Given the description of an element on the screen output the (x, y) to click on. 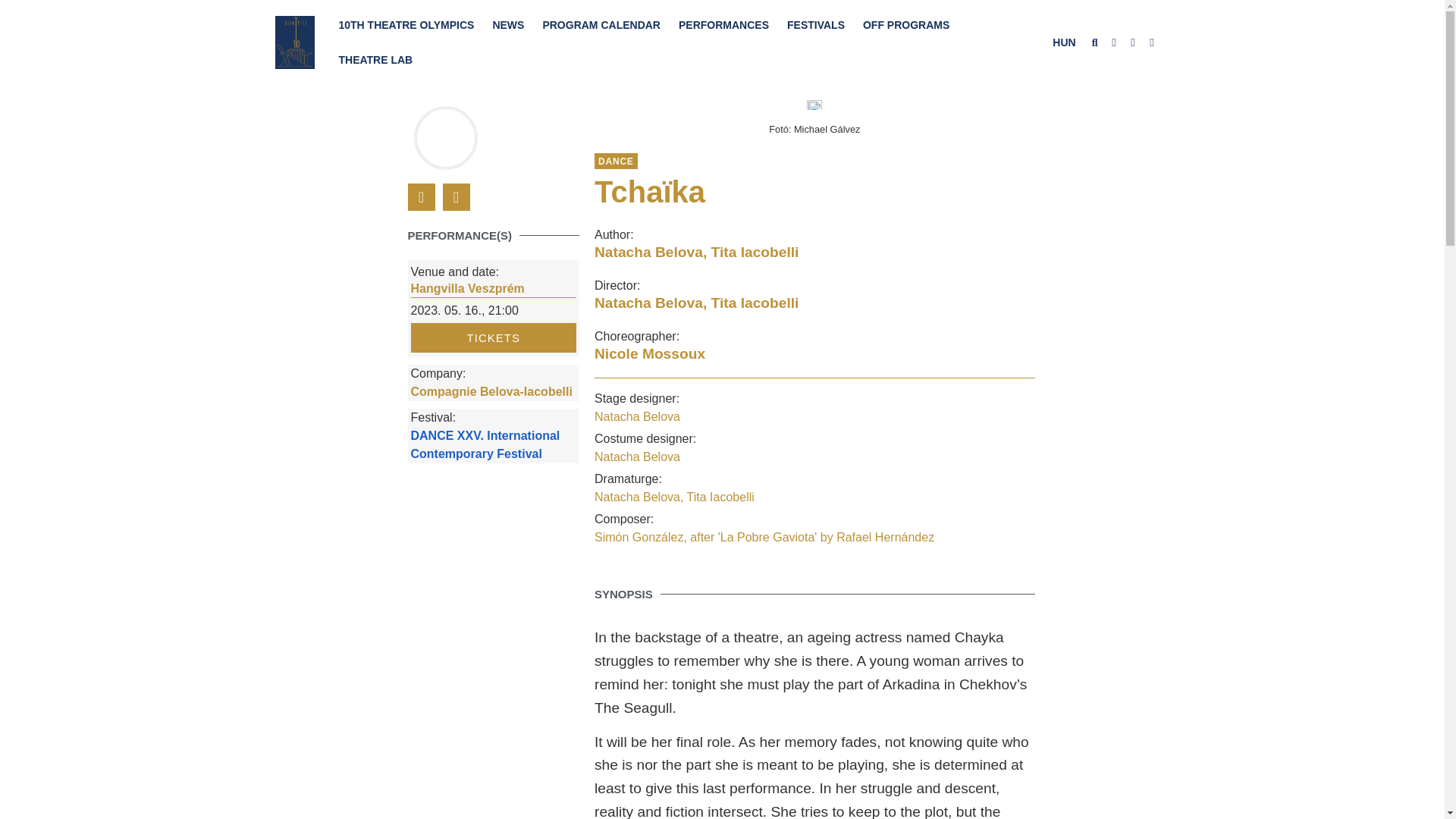
THEATRE LAB (375, 59)
PERFORMANCES (723, 24)
OFF PROGRAMS (905, 24)
HUN (1063, 42)
NEWS (507, 24)
10TH THEATRE OLYMPICS (406, 24)
PROGRAM CALENDAR (600, 24)
FESTIVALS (815, 24)
